Given the description of an element on the screen output the (x, y) to click on. 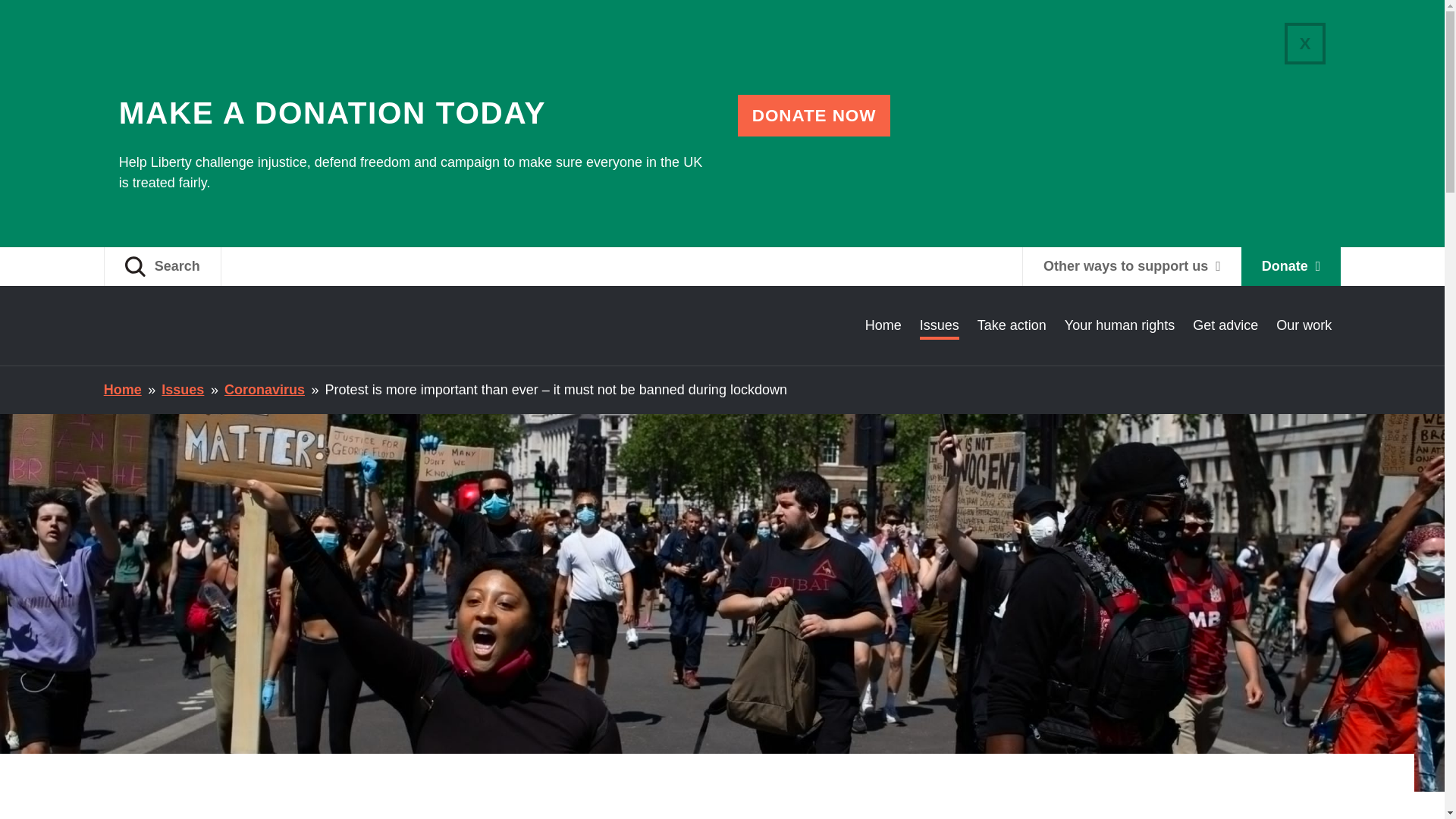
Get advice (1224, 325)
Coronavirus (264, 389)
Donate (1290, 266)
Search (162, 266)
DONATE NOW (814, 115)
Our work (1304, 325)
Your human rights (1119, 325)
Home (882, 325)
Other ways to support us (1131, 266)
Issues (182, 389)
